Given the description of an element on the screen output the (x, y) to click on. 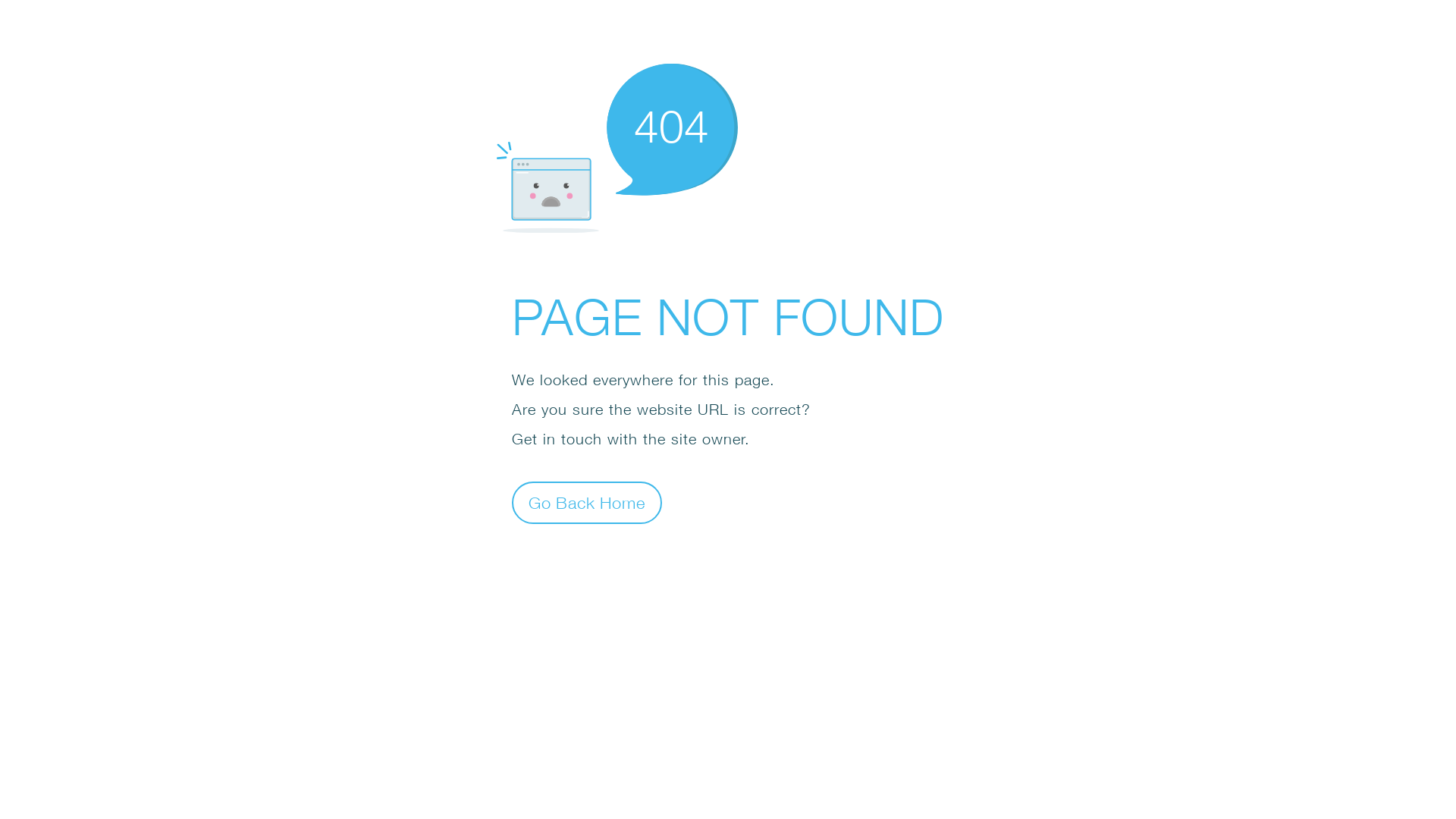
Go Back Home Element type: text (586, 502)
